Given the description of an element on the screen output the (x, y) to click on. 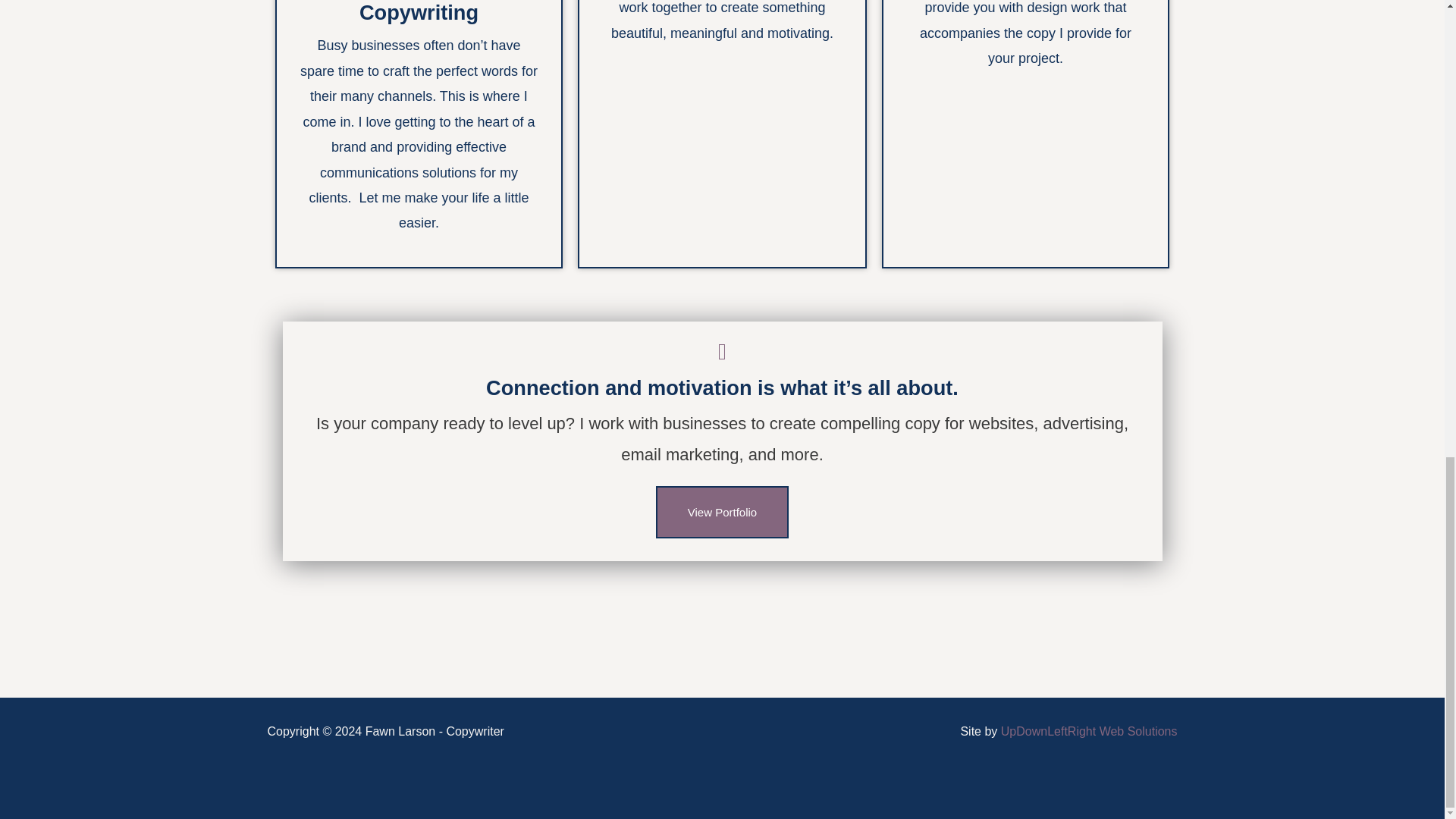
UpDownLeftRight Web Solutions (1089, 730)
View Portfolio (722, 512)
Click Here (722, 512)
